Given the description of an element on the screen output the (x, y) to click on. 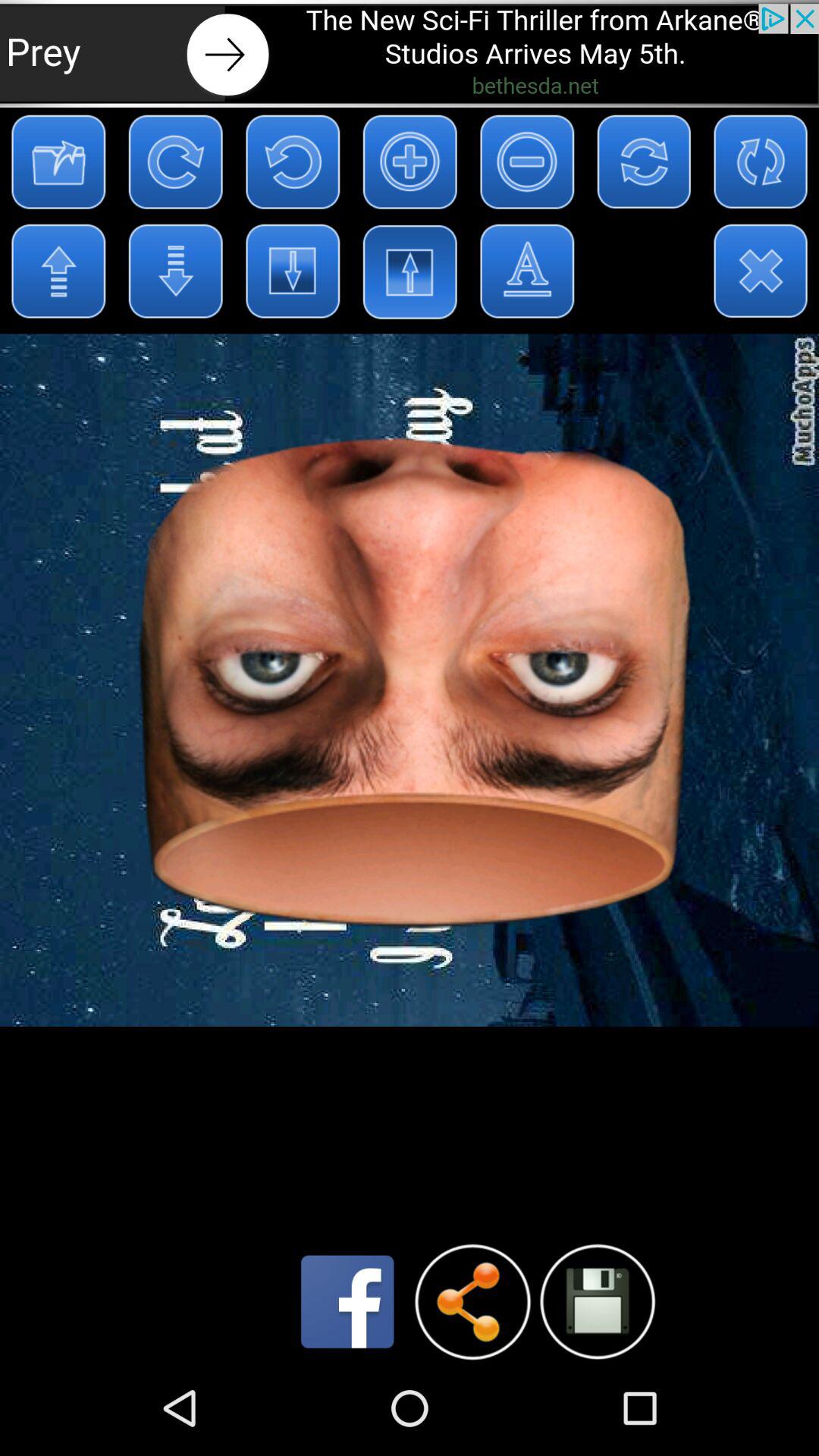
share button (472, 1301)
